Given the description of an element on the screen output the (x, y) to click on. 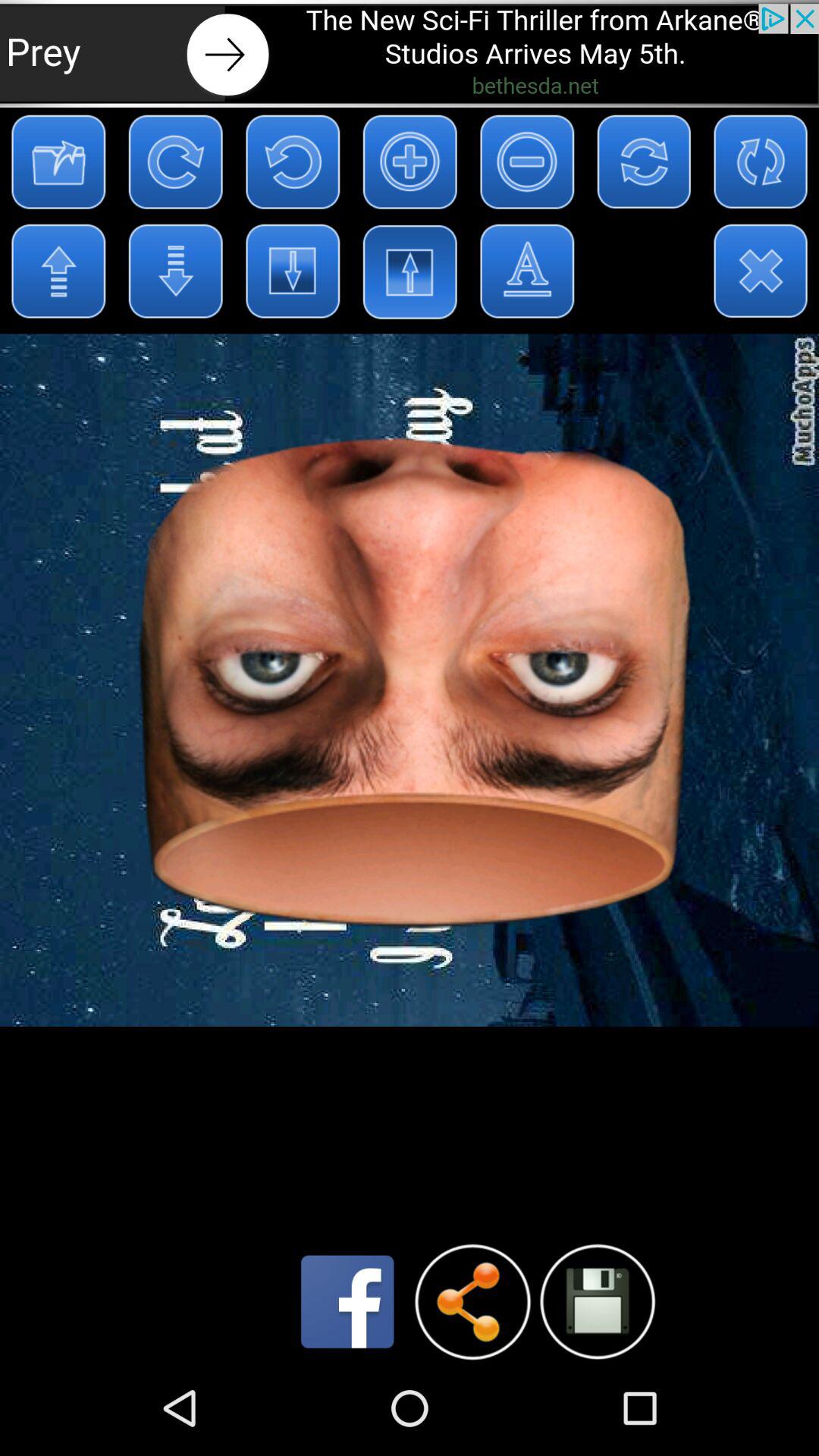
share button (472, 1301)
